Given the description of an element on the screen output the (x, y) to click on. 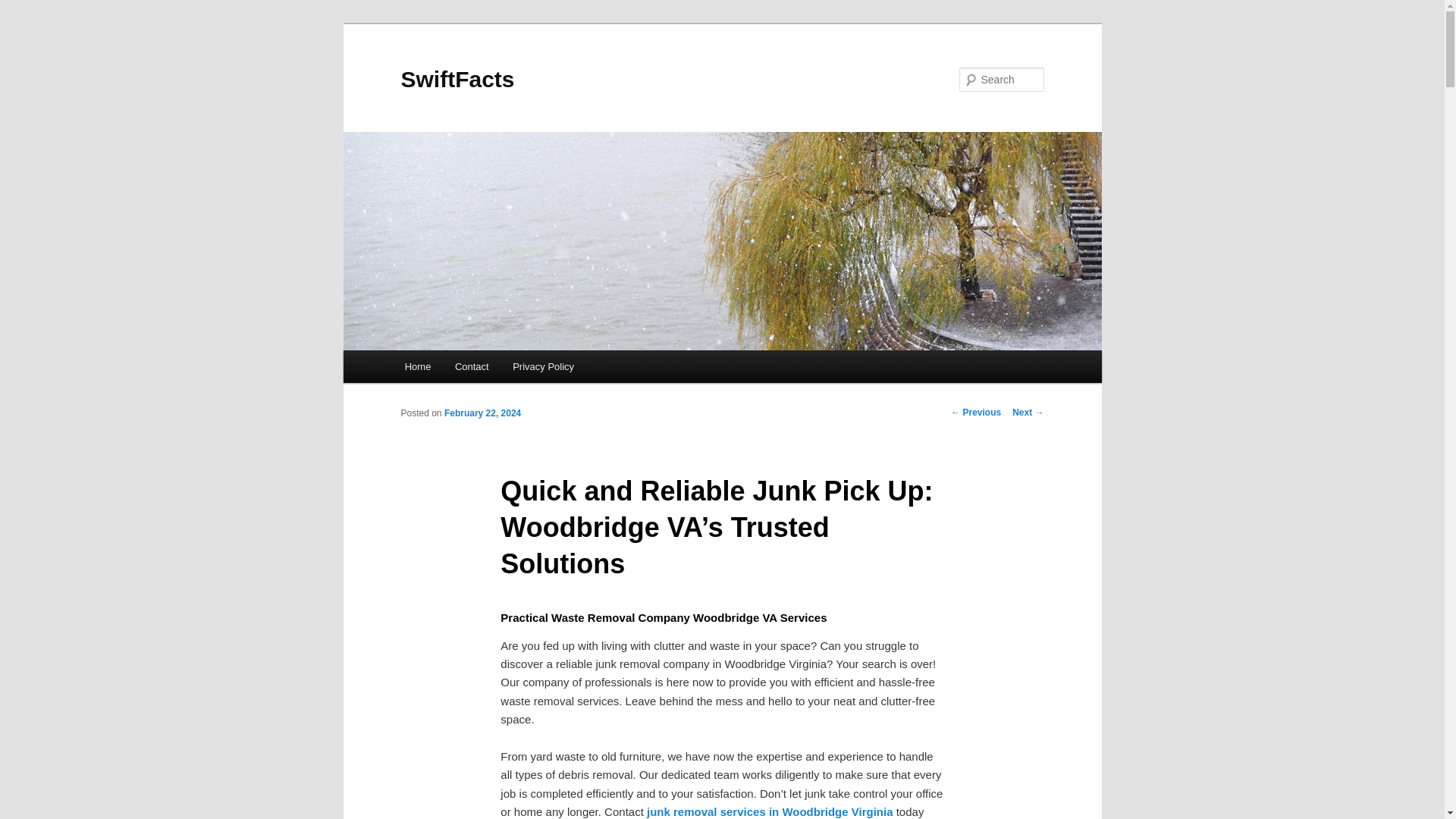
Privacy Policy (542, 366)
February 22, 2024 (482, 412)
SwiftFacts (456, 78)
Home (417, 366)
7:16 pm (482, 412)
Search (24, 8)
junk removal services in Woodbridge Virginia (769, 811)
Contact (471, 366)
